Given the description of an element on the screen output the (x, y) to click on. 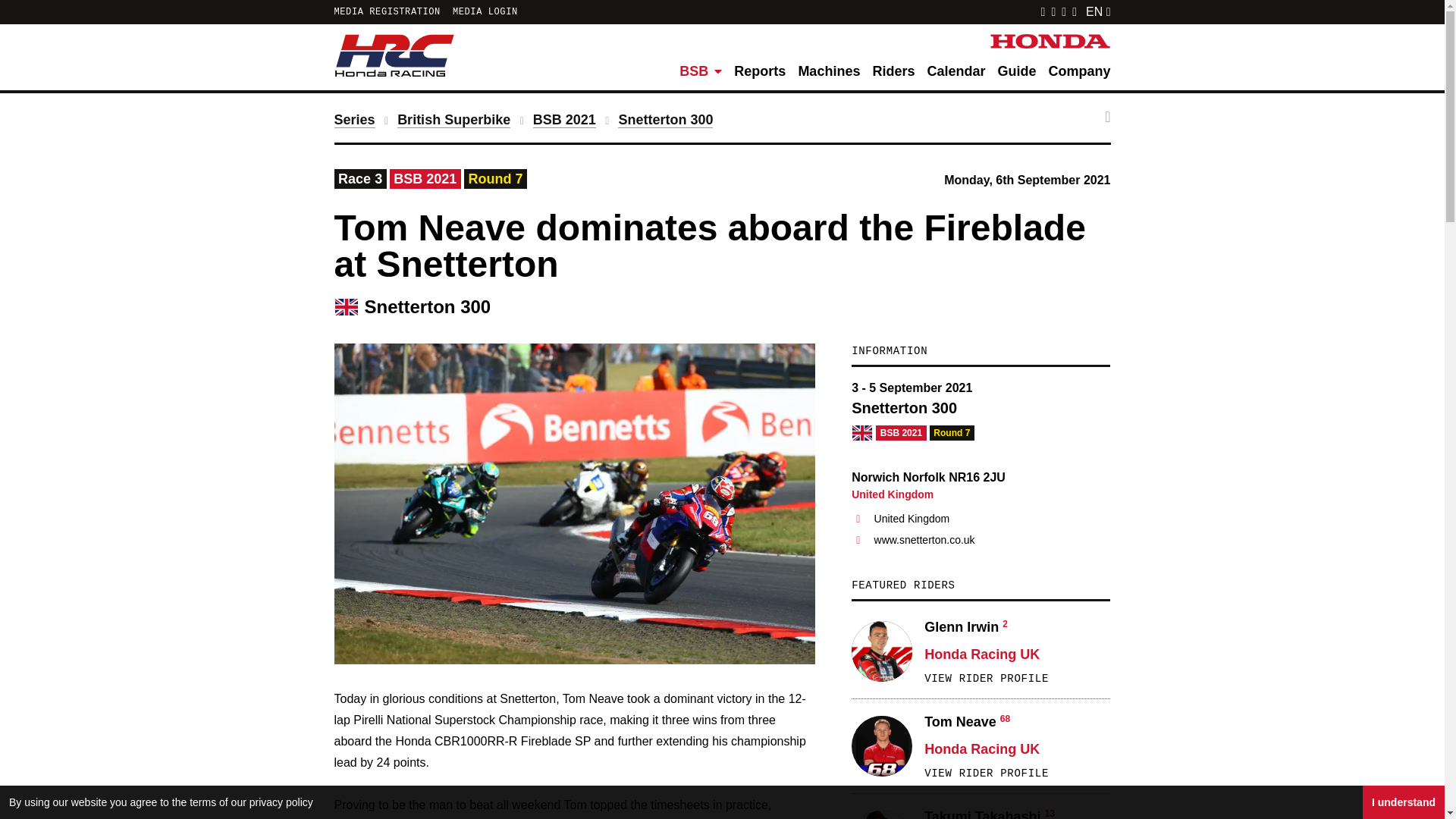
Calendar (955, 71)
Riders (893, 71)
Reports (760, 71)
Machines (829, 71)
Guide (1016, 71)
Company (1079, 71)
MEDIA LOGIN (485, 11)
MEDIA REGISTRATION (386, 11)
BSB (700, 71)
